Given the description of an element on the screen output the (x, y) to click on. 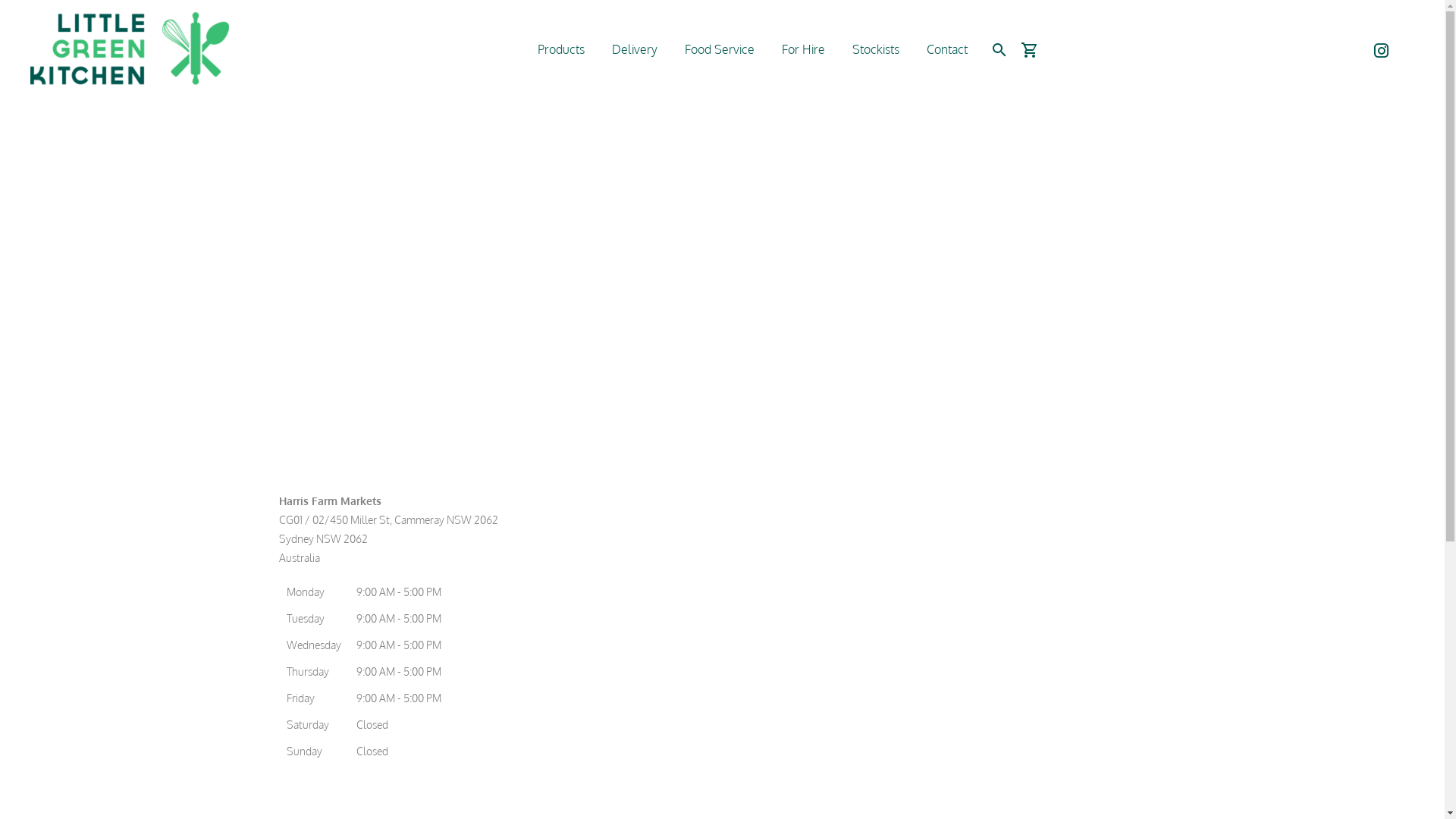
Instagram Element type: hover (1380, 50)
Stockists Element type: text (875, 48)
Delivery Element type: text (634, 48)
Food Service Element type: text (719, 48)
Contact Element type: text (946, 48)
For Hire Element type: text (803, 48)
Products Element type: text (561, 48)
